Given the description of an element on the screen output the (x, y) to click on. 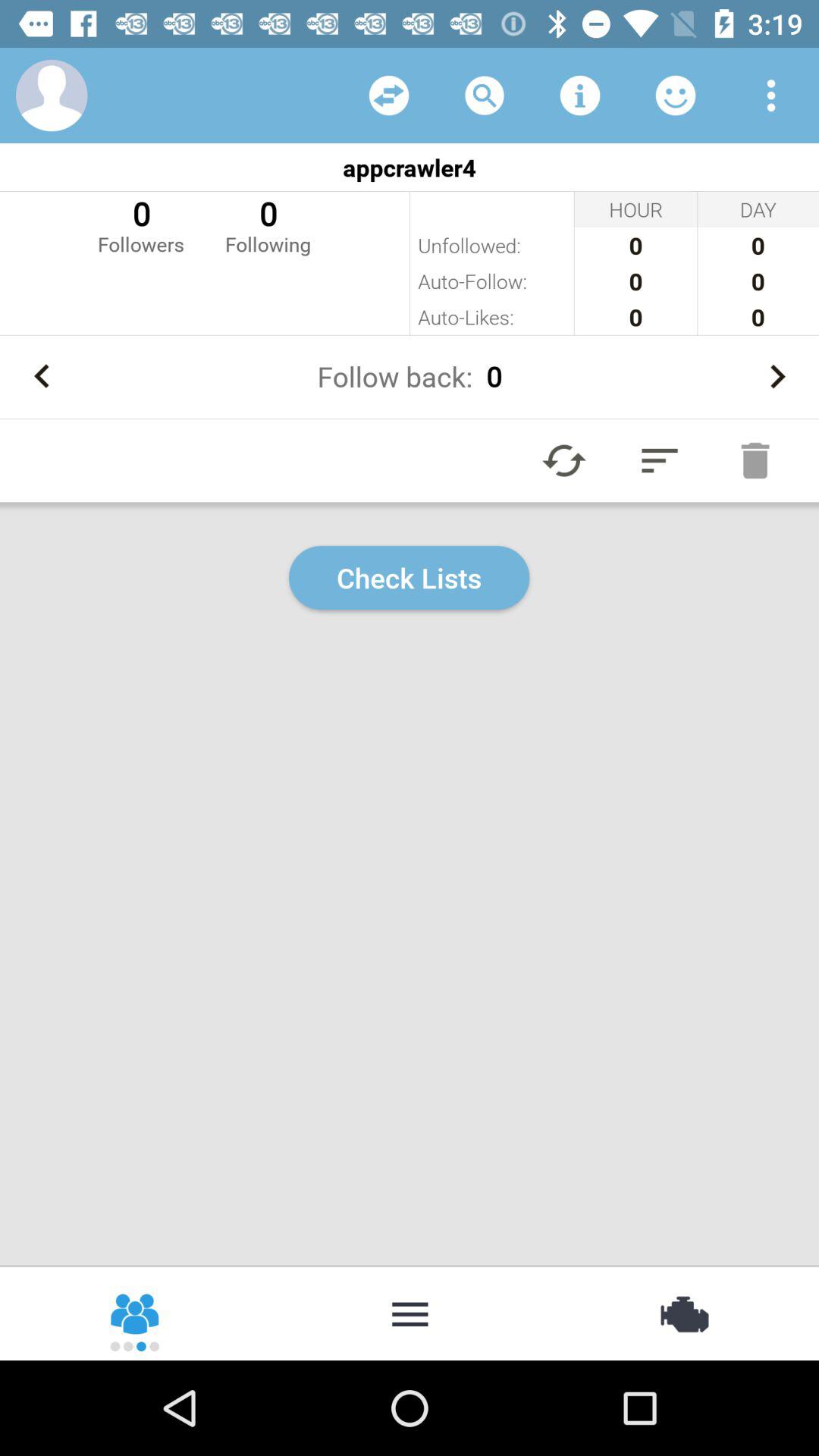
search (484, 95)
